Given the description of an element on the screen output the (x, y) to click on. 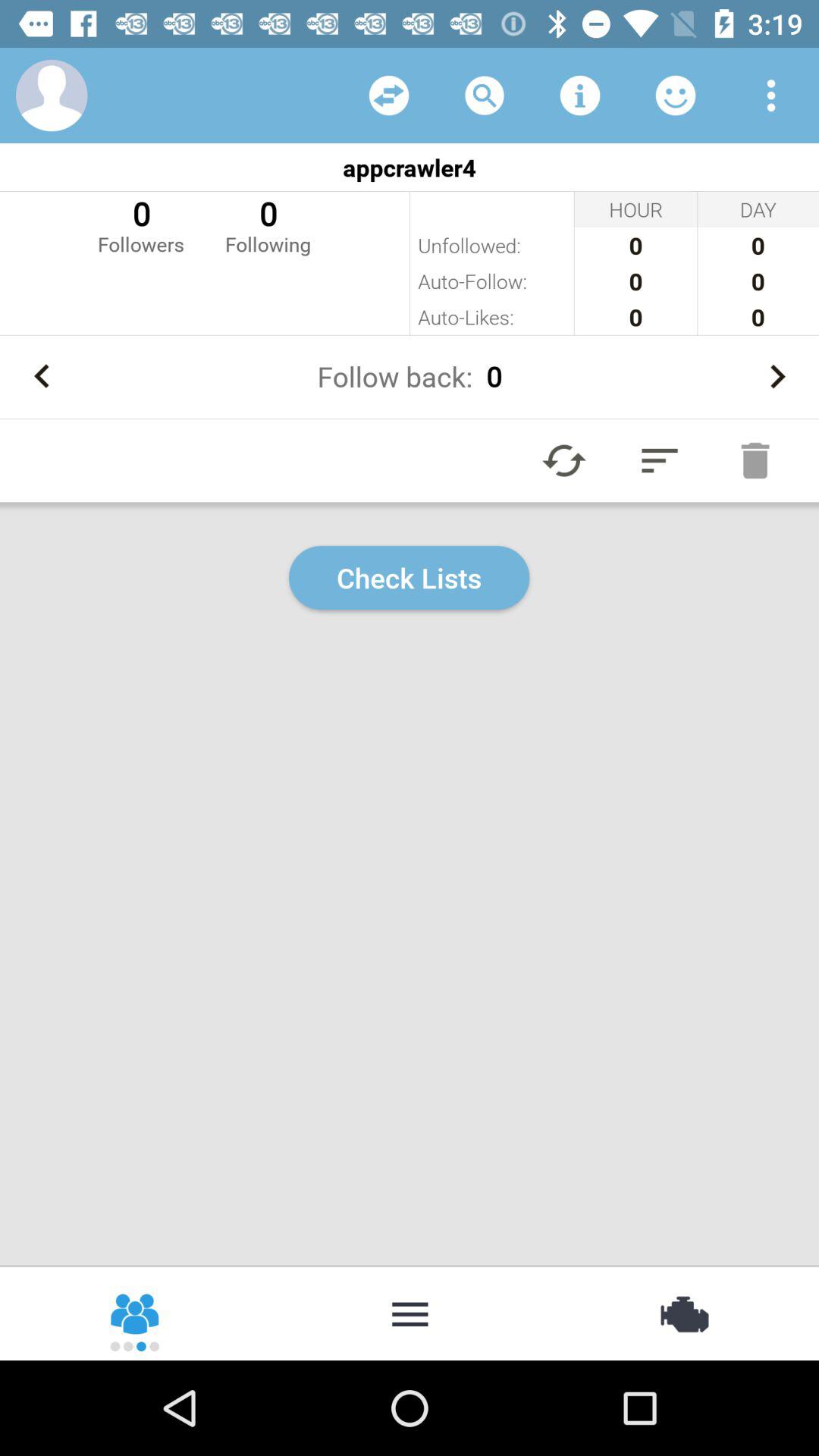
search (484, 95)
